Given the description of an element on the screen output the (x, y) to click on. 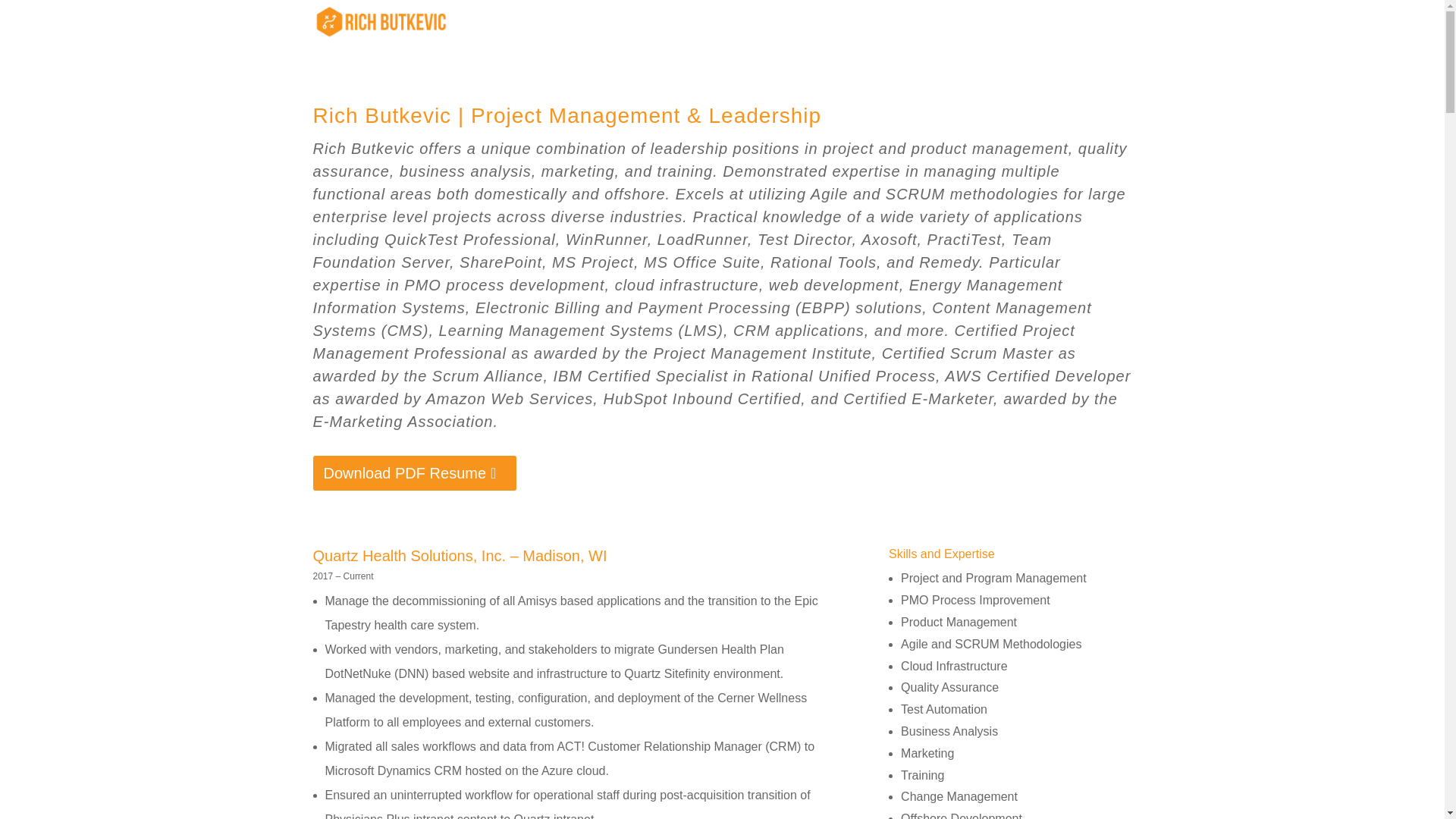
Download PDF Resume (414, 472)
